Given the description of an element on the screen output the (x, y) to click on. 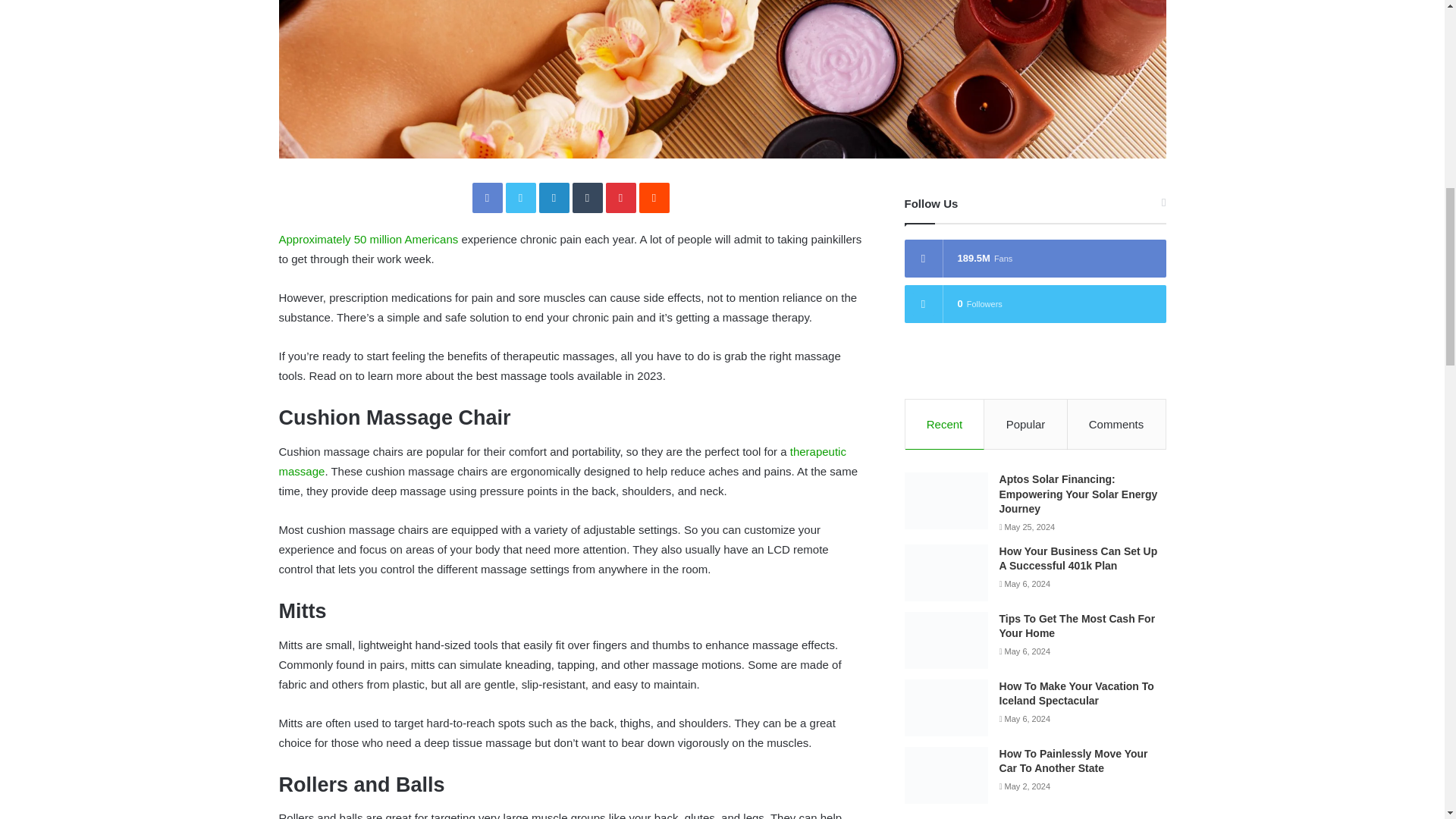
Approximately 50 million Americans (368, 238)
LinkedIn (553, 197)
Pinterest (619, 197)
Twitter (520, 197)
Tumblr (587, 197)
therapeutic massage (562, 461)
Reddit (653, 197)
Facebook (486, 197)
